Given the description of an element on the screen output the (x, y) to click on. 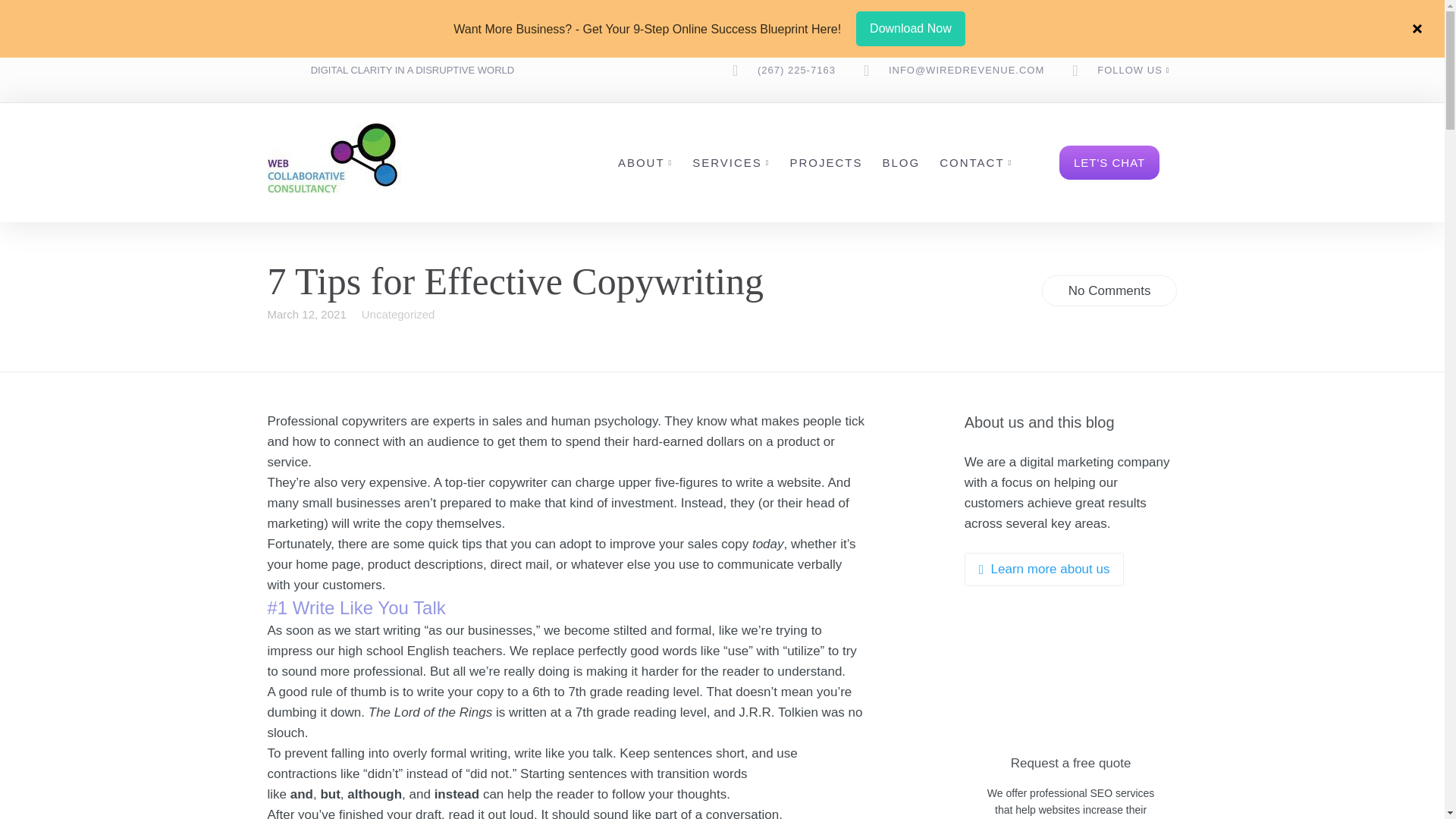
FOLLOW US (1129, 69)
ABOUT (641, 162)
SERVICES (727, 162)
